Given the description of an element on the screen output the (x, y) to click on. 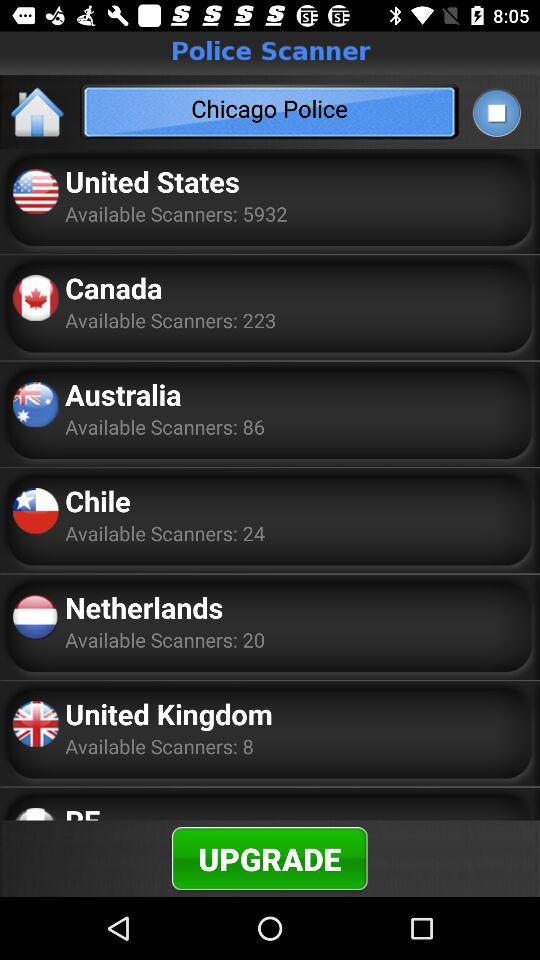
choose the app to the left of the chicago police app (38, 111)
